Given the description of an element on the screen output the (x, y) to click on. 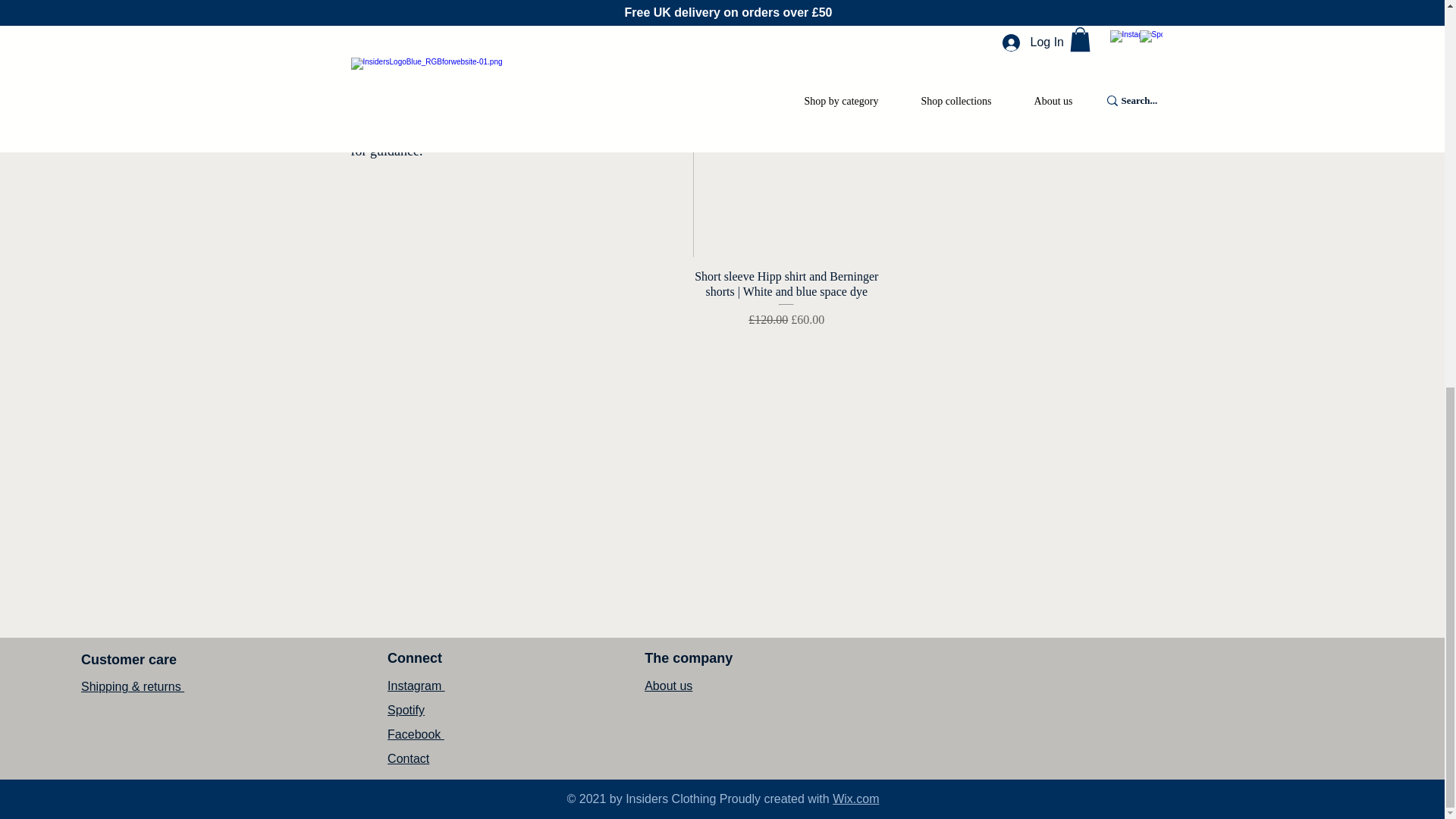
Instagram  (416, 685)
Spotify (406, 709)
Facebook  (415, 734)
